Given the description of an element on the screen output the (x, y) to click on. 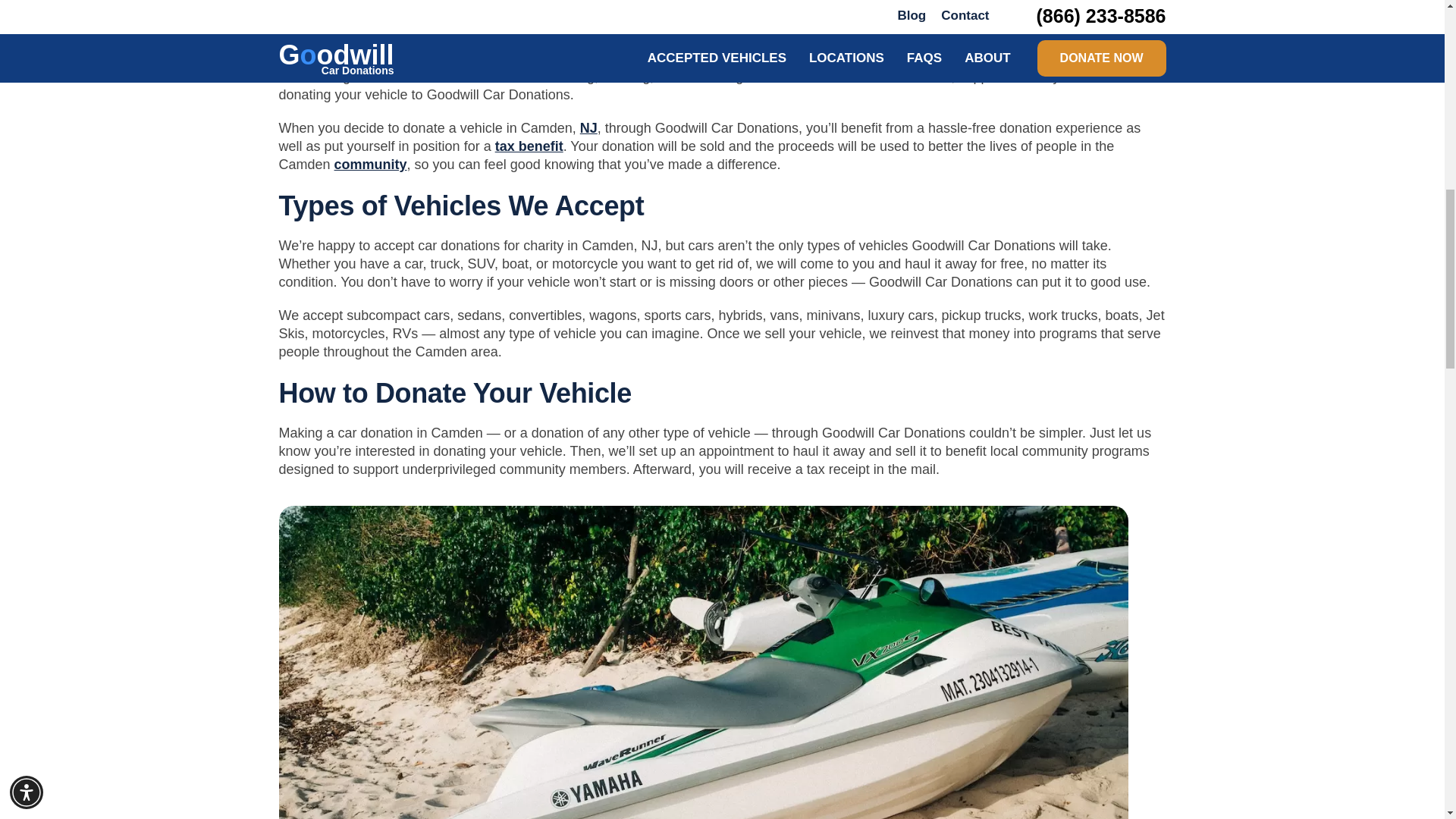
NJ (587, 127)
community (370, 164)
tax benefit (529, 145)
Goodwill Car Donations (386, 43)
